Given the description of an element on the screen output the (x, y) to click on. 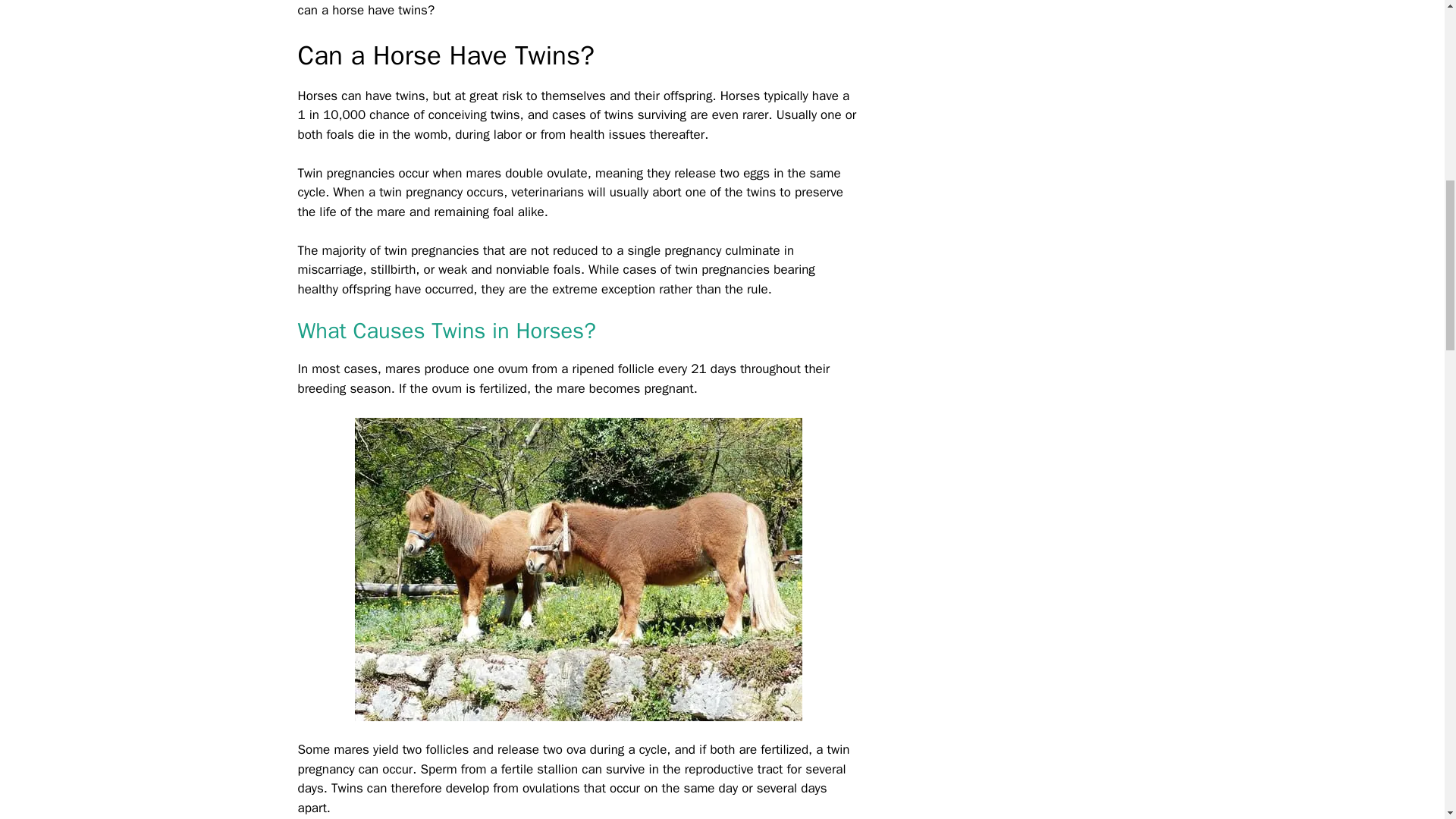
Scroll back to top (1406, 720)
